Given the description of an element on the screen output the (x, y) to click on. 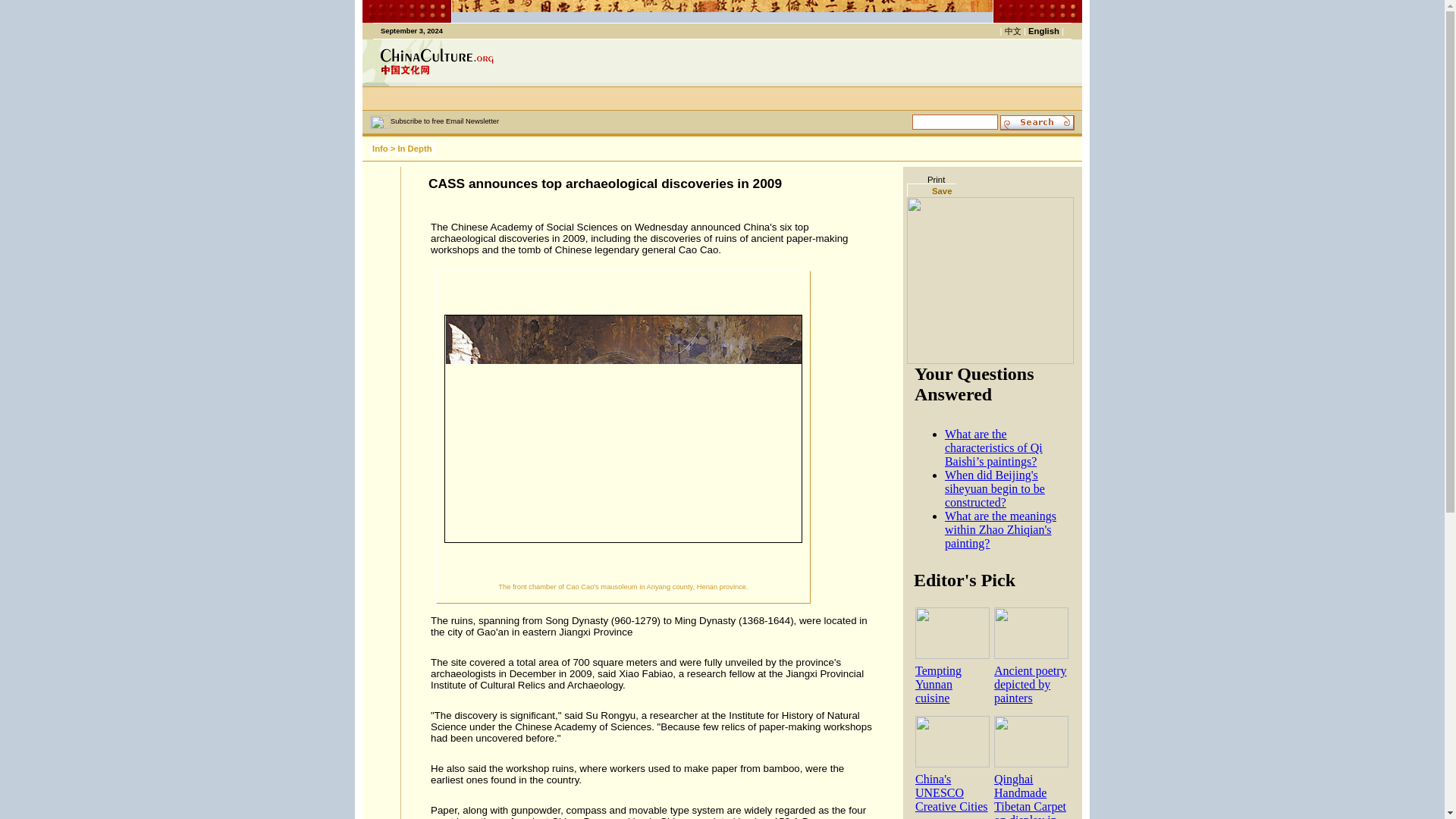
Subscribe to free Email Newsletter (444, 121)
Save (931, 190)
In Depth (413, 148)
English (1043, 30)
Print (925, 178)
Info (379, 148)
